Given the description of an element on the screen output the (x, y) to click on. 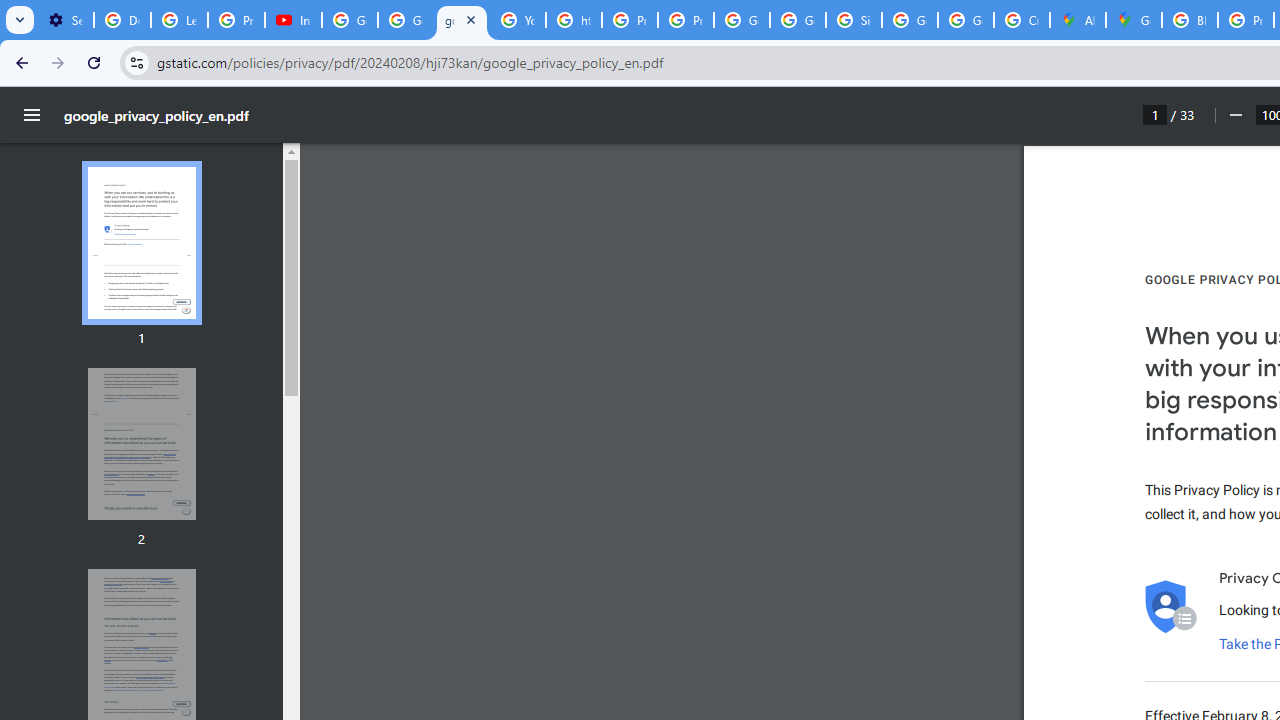
Create your Google Account (1021, 20)
Settings - Customize profile (65, 20)
Google Account Help (349, 20)
Menu (31, 115)
Privacy Help Center - Policies Help (629, 20)
Thumbnail for page 2 (141, 444)
